Given the description of an element on the screen output the (x, y) to click on. 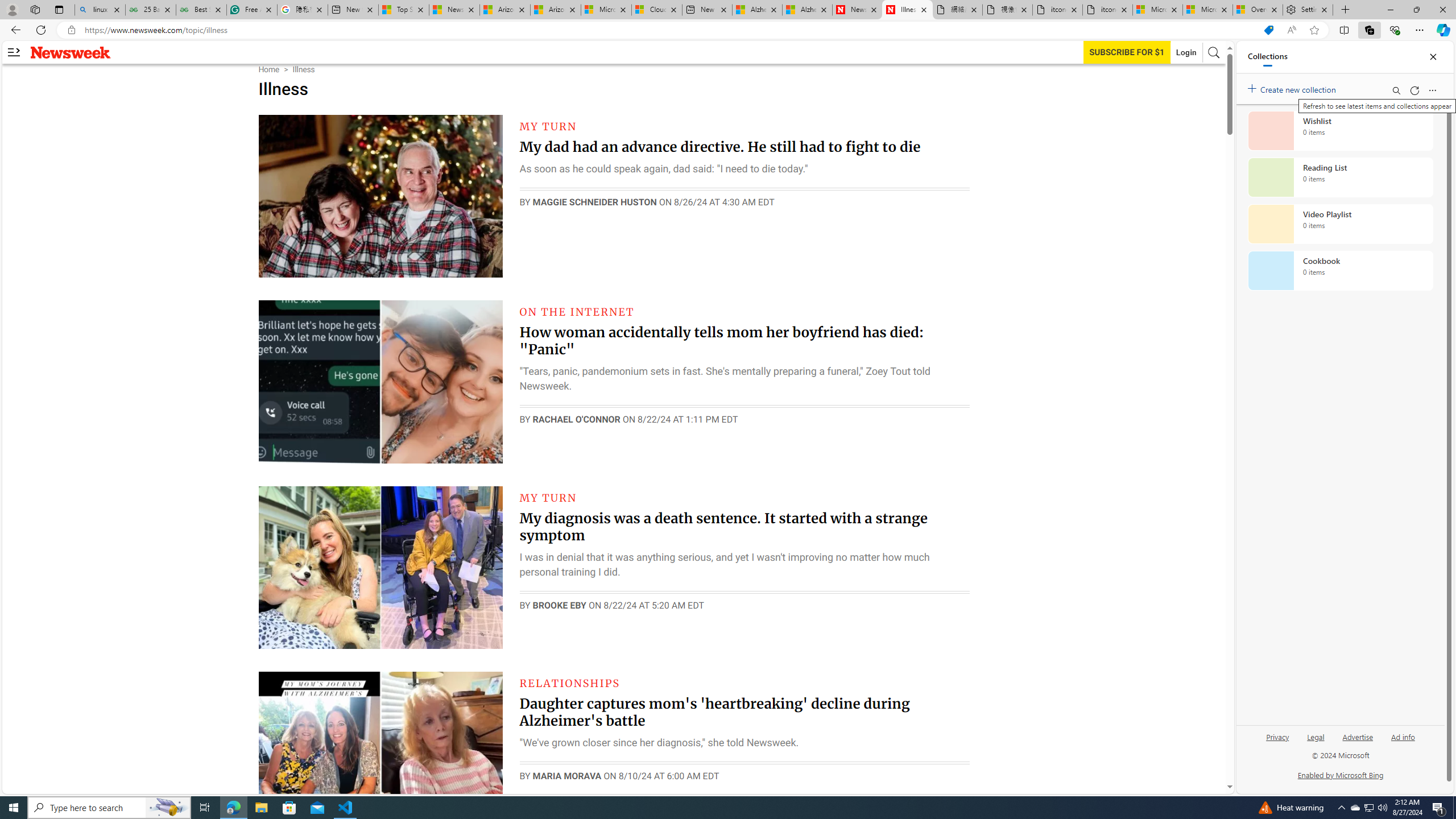
Subscribe to our service (1126, 52)
Ad info (1402, 736)
Privacy (1277, 741)
Login (1186, 51)
Reading List collection, 0 items (1339, 177)
AutomationID: search-btn (1213, 51)
